Given the description of an element on the screen output the (x, y) to click on. 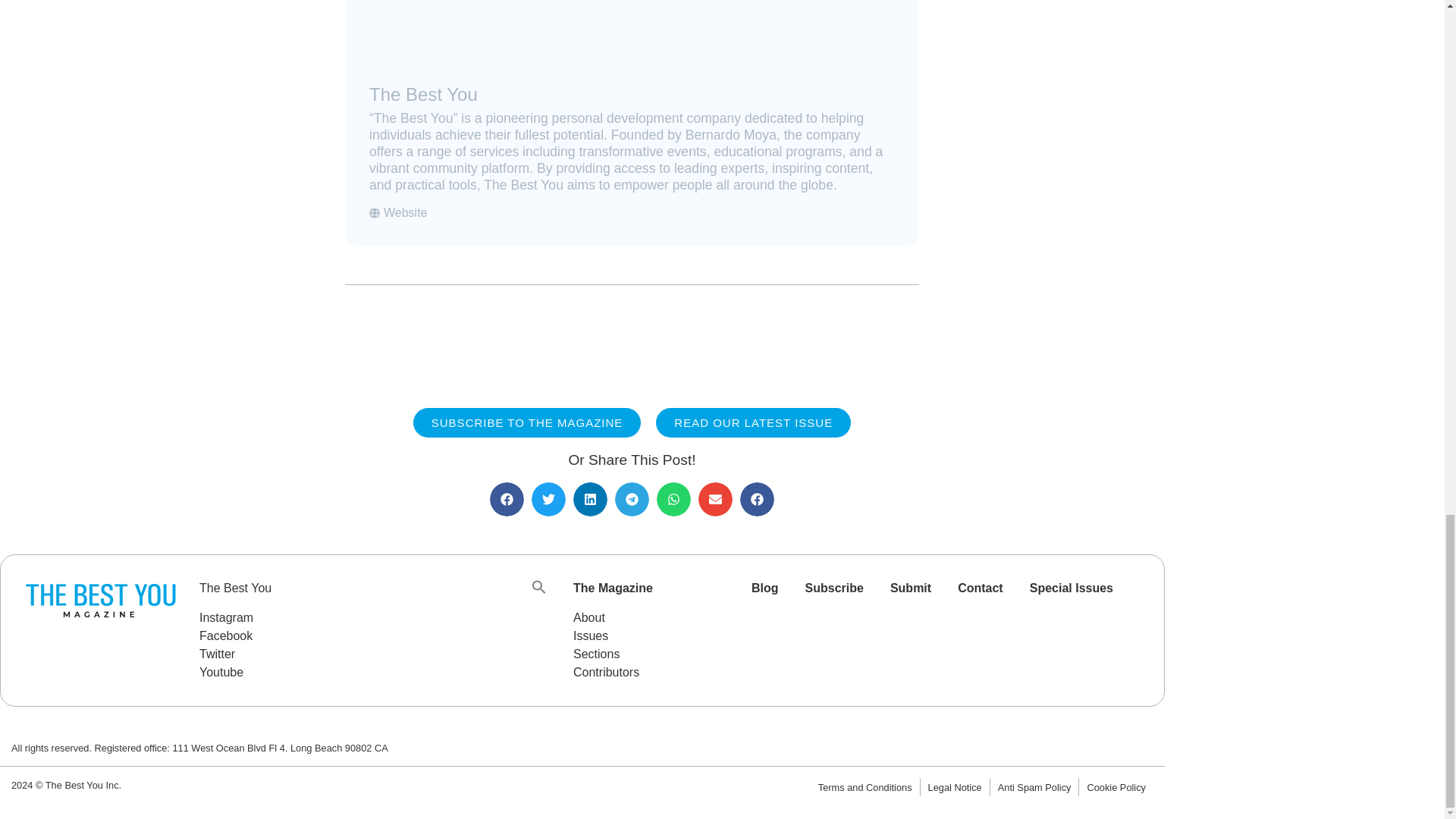
Website (398, 212)
SUBSCRIBE TO THE MAGAZINE (527, 422)
READ OUR LATEST ISSUE (753, 422)
